Given the description of an element on the screen output the (x, y) to click on. 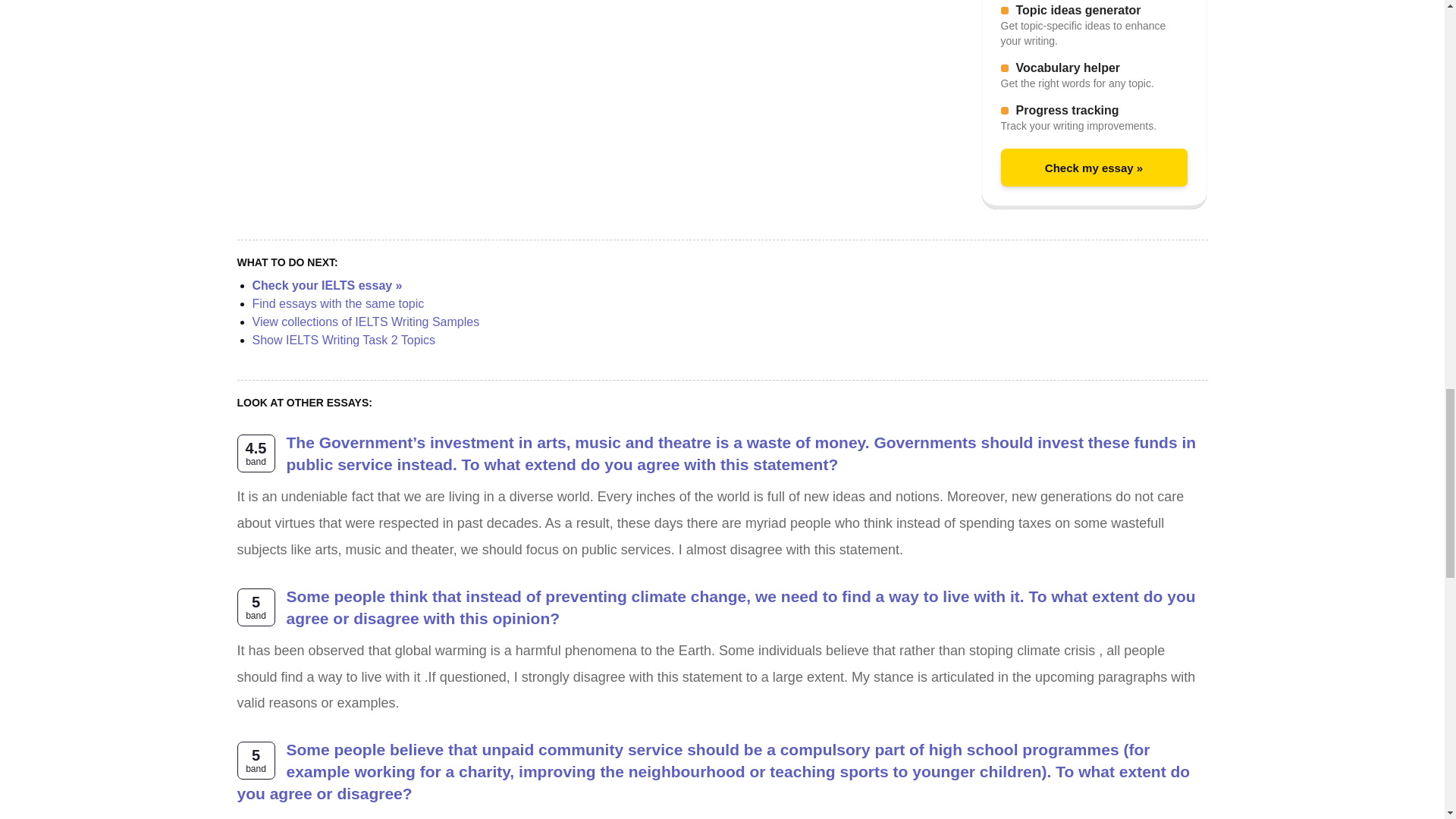
Show IELTS Writing Task 2 Topics (343, 339)
Find essays with the same topic (337, 303)
View collections of IELTS Writing Samples (365, 321)
